Given the description of an element on the screen output the (x, y) to click on. 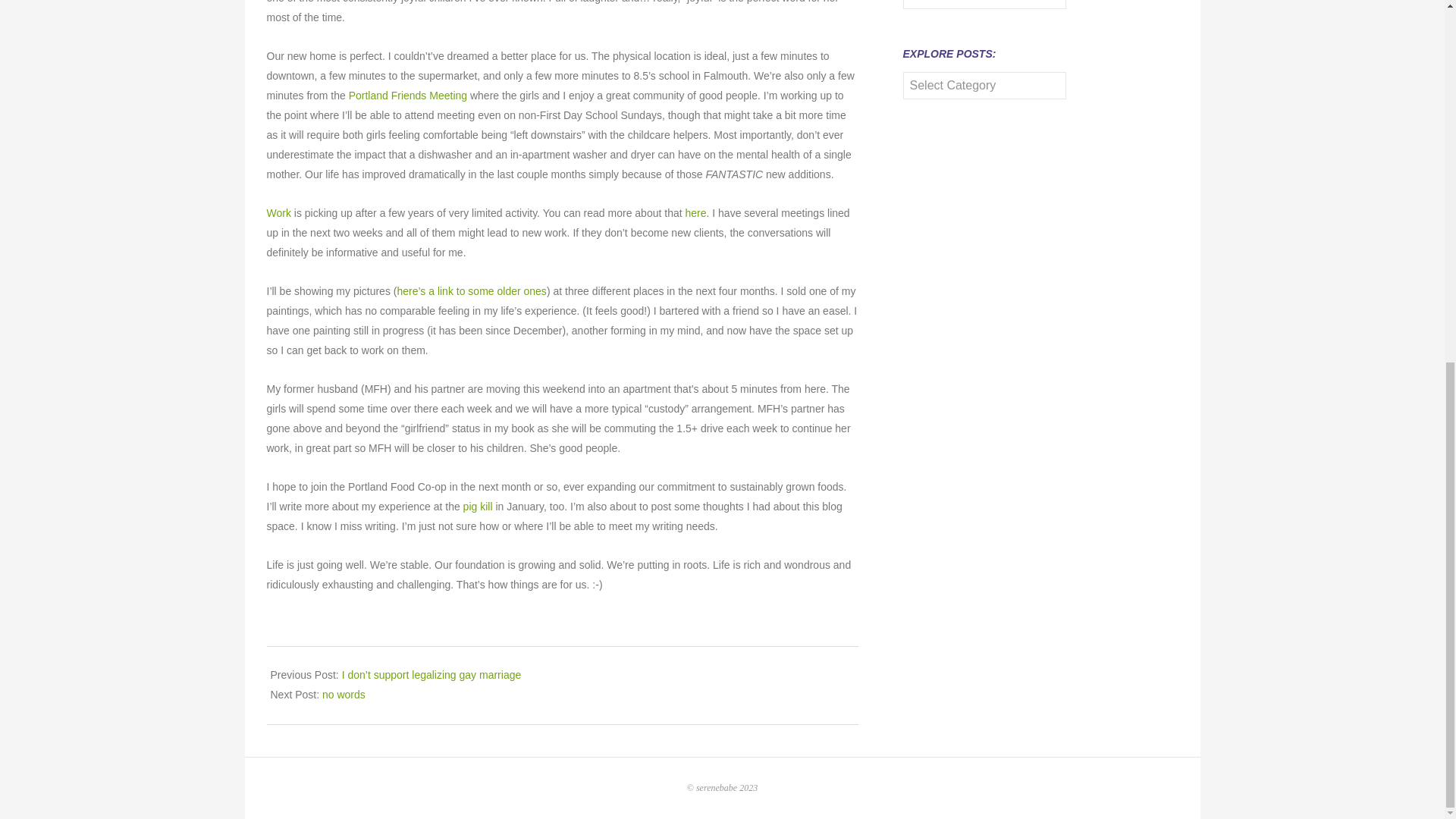
no words (343, 694)
Portland Friends Meeting (408, 95)
Work (278, 213)
here (695, 213)
pig kill (476, 506)
